Given the description of an element on the screen output the (x, y) to click on. 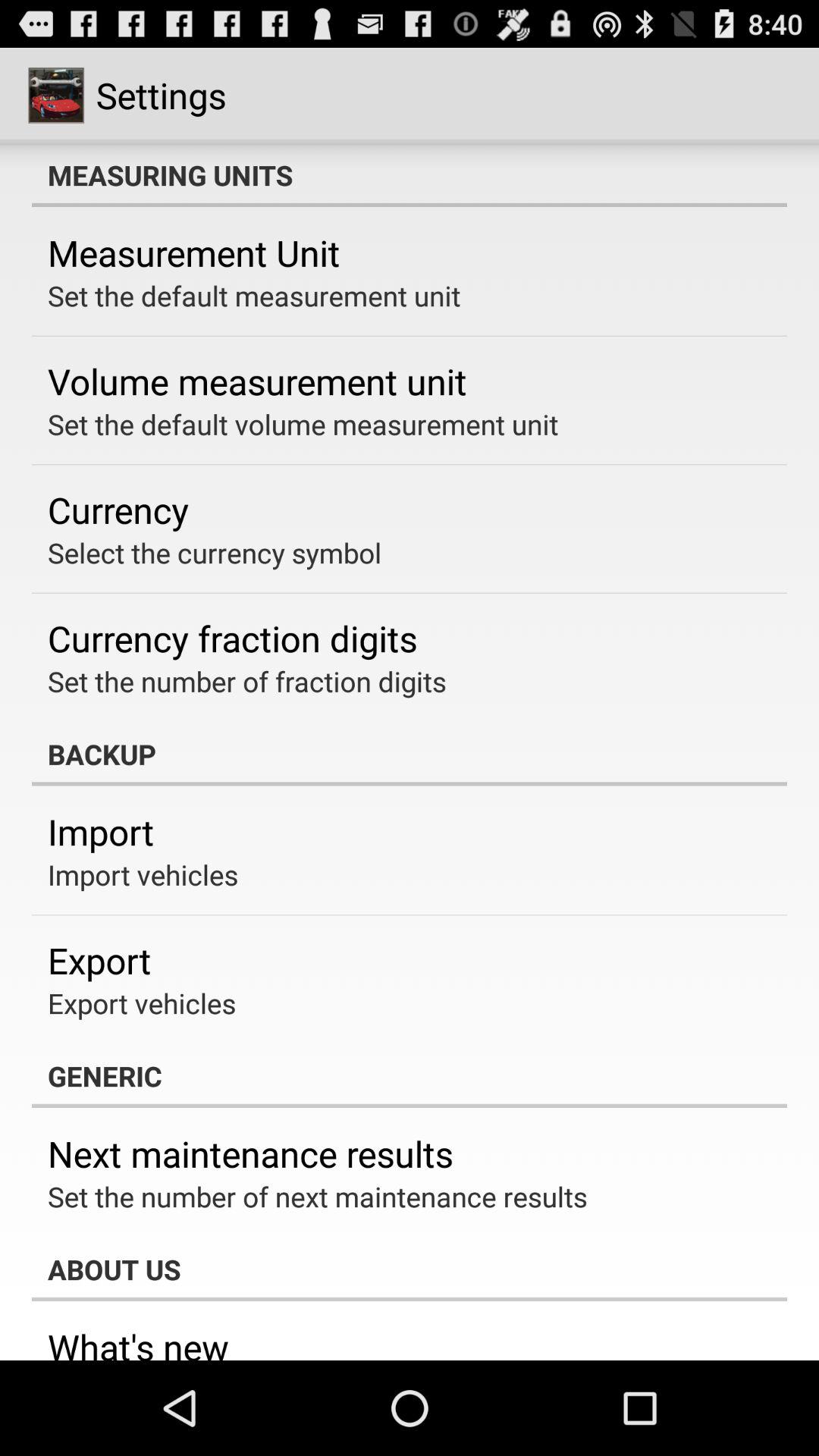
select app above the import app (409, 754)
